Given the description of an element on the screen output the (x, y) to click on. 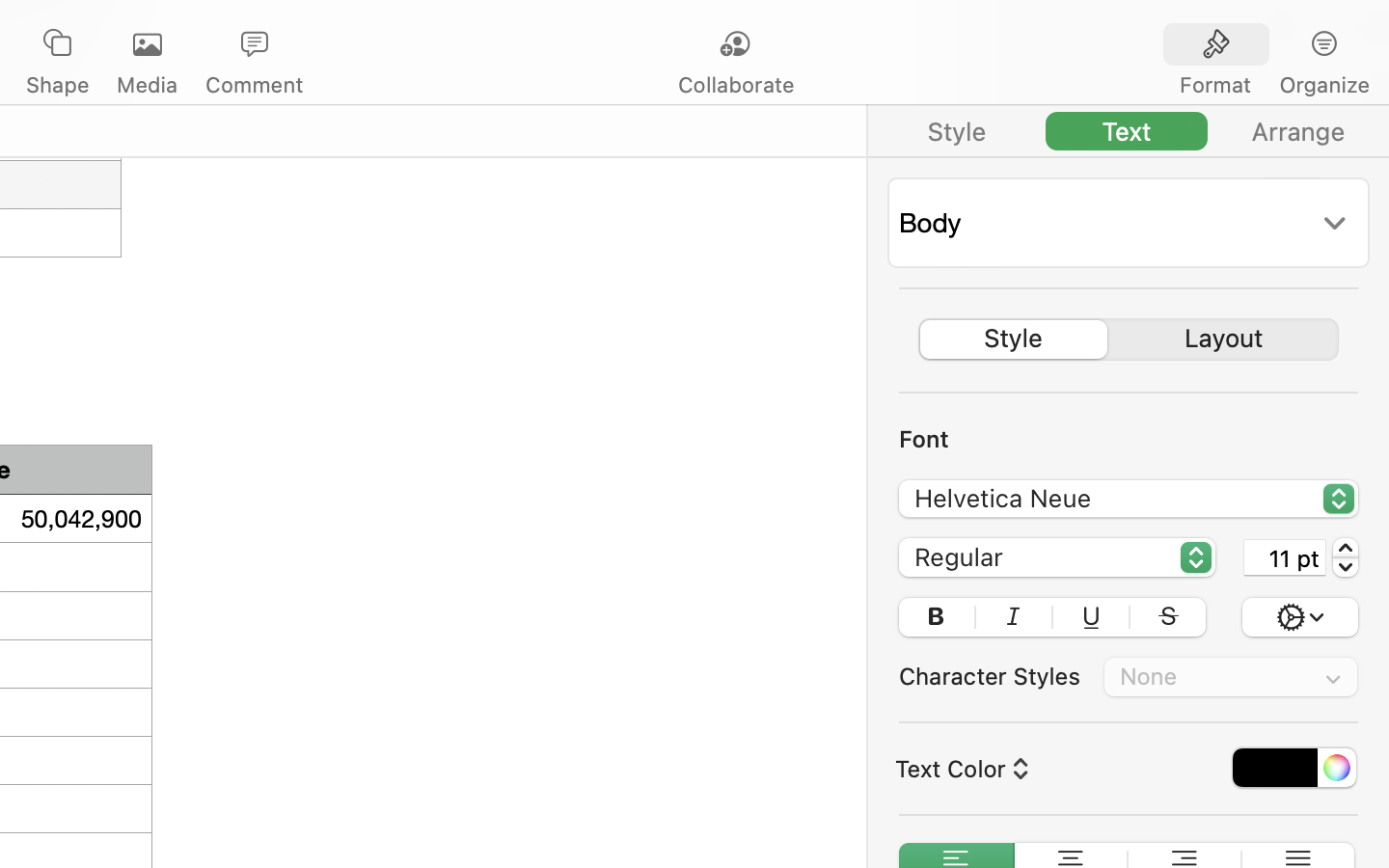
<AXUIElement 0x16cb9f0d0> {pid=1420} Element type: AXRadioGroup (1128, 131)
<AXUIElement 0x150d98cc0> {pid=1420} Element type: AXRadioGroup (1128, 339)
Character Styles Element type: AXStaticText (989, 675)
Helvetica Neue Element type: AXPopUpButton (1129, 501)
